Given the description of an element on the screen output the (x, y) to click on. 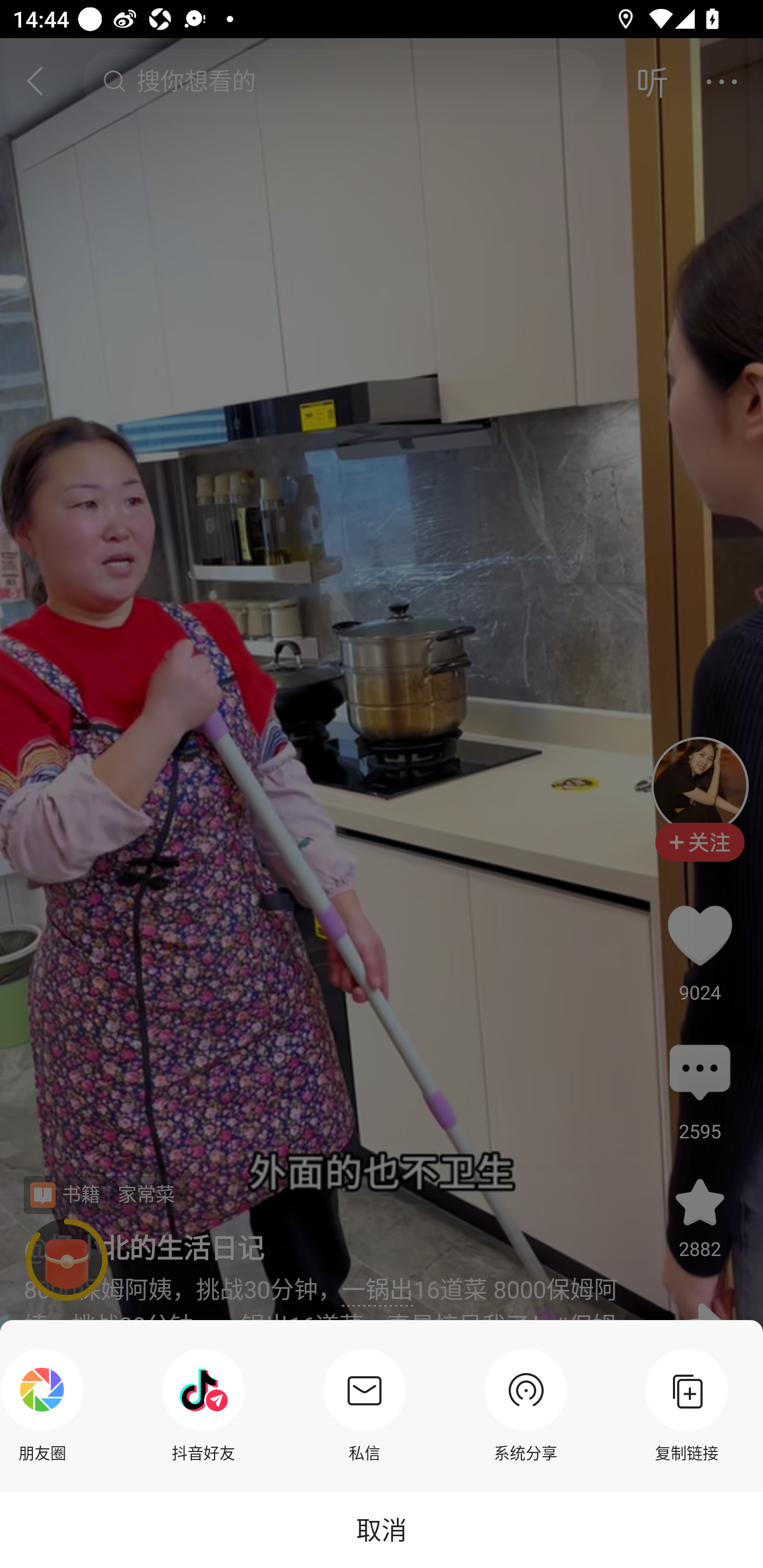
朋友圈 (46, 1405)
抖音好友 (203, 1405)
私信 (364, 1405)
系统分享 (525, 1405)
复制链接 (686, 1405)
取消 (381, 1529)
